Given the description of an element on the screen output the (x, y) to click on. 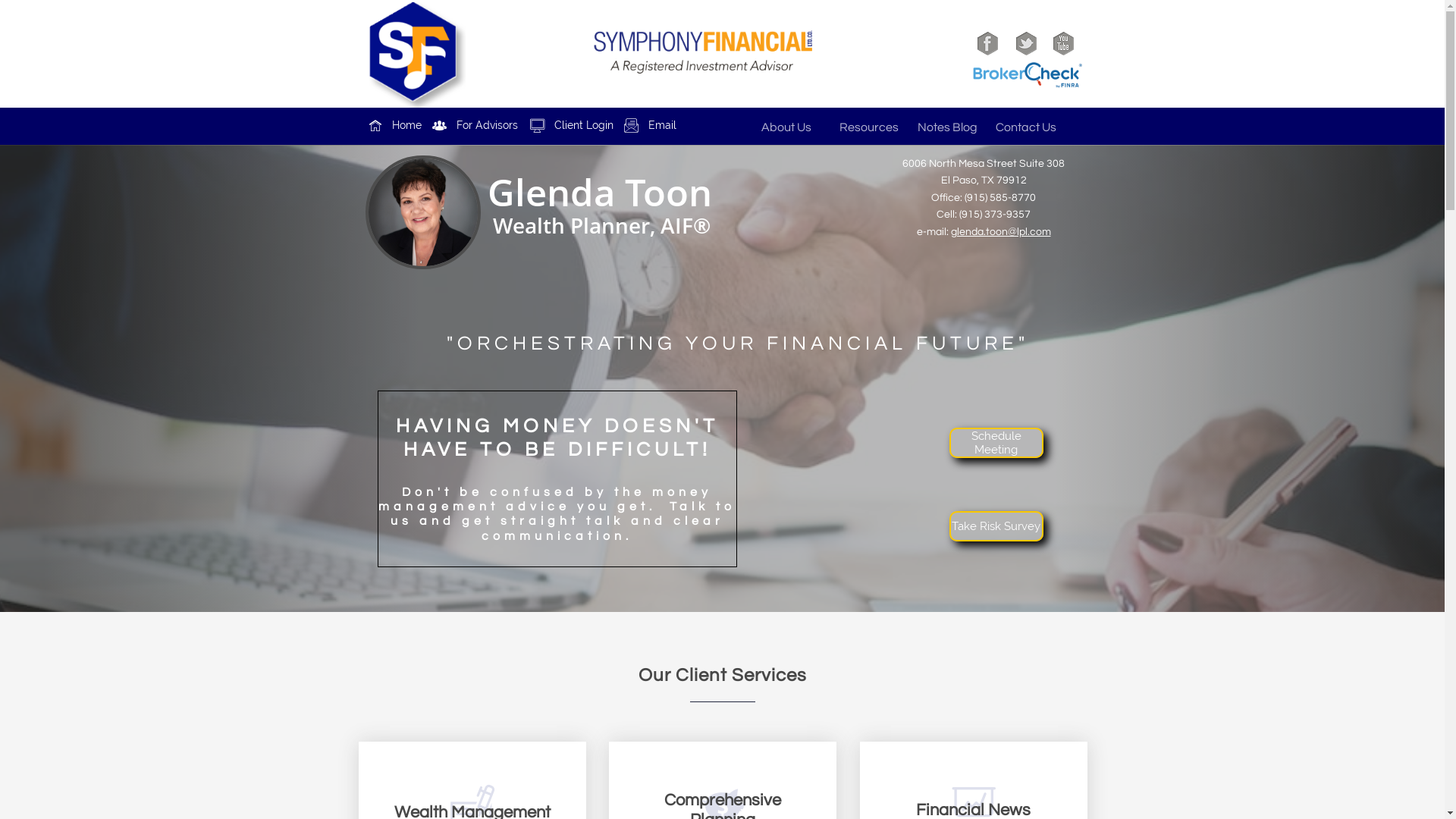
Resources Element type: text (873, 127)
About Us Element type: text (796, 127)
Take Risk Survey Element type: text (996, 526)
Notes Blog Element type: text (952, 127)
glenda.toon@lpl.com Element type: text (1000, 231)
Our Client Services Element type: text (722, 674)
El Paso, TX 79912 Element type: text (983, 180)
6006 North Mesa Street Suite 308 Element type: text (983, 163)
Contact Us Element type: text (1029, 127)
